Given the description of an element on the screen output the (x, y) to click on. 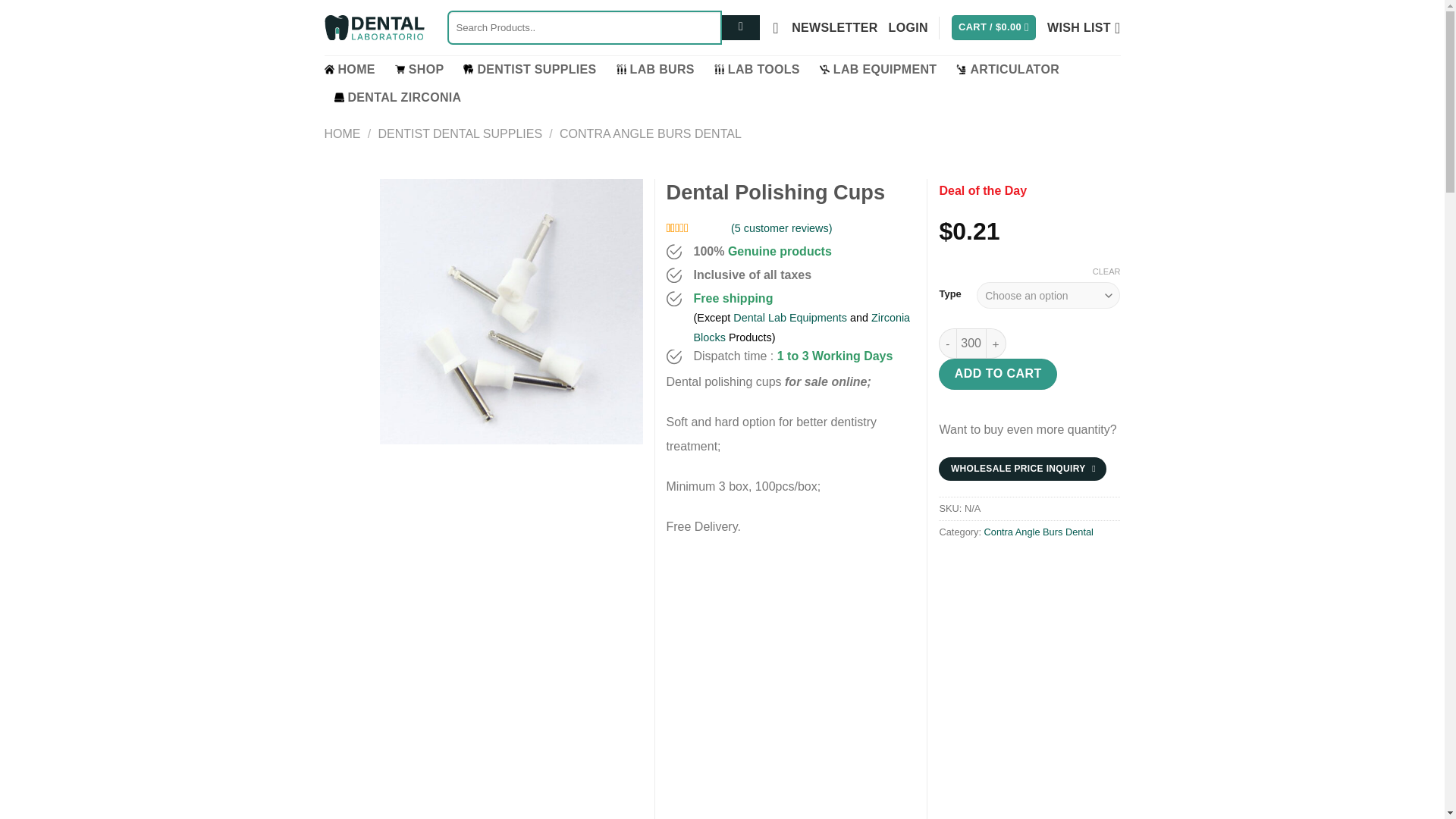
LOGIN (908, 26)
ARTICULATOR (1007, 69)
LAB TOOLS (756, 69)
Dental Lab Equipments (790, 317)
DENTIST DENTAL SUPPLIES (459, 133)
DENTIST SUPPLIES (529, 69)
HOME (342, 133)
Search (741, 27)
LAB BURS (654, 69)
300 (971, 343)
